Given the description of an element on the screen output the (x, y) to click on. 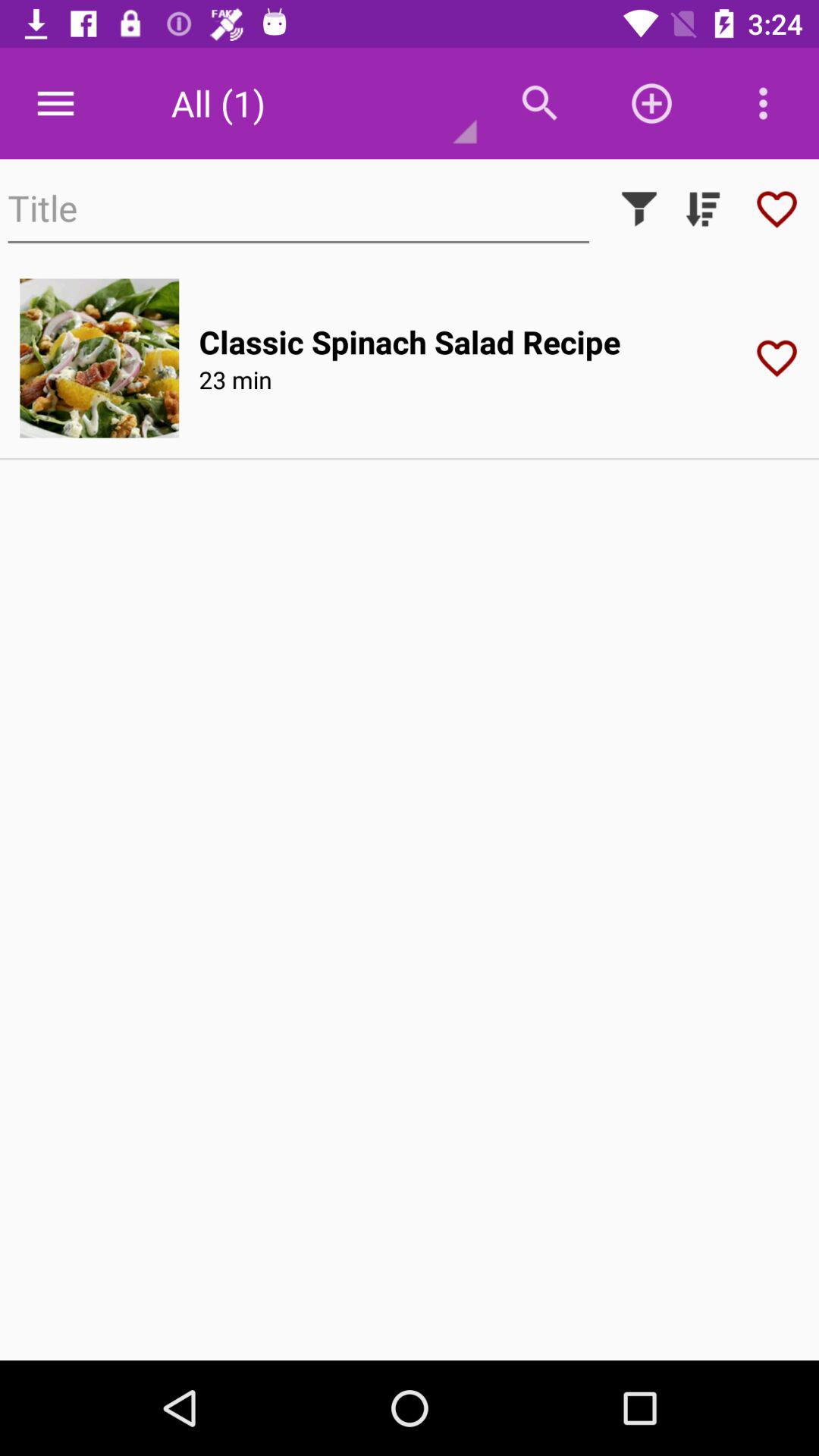
mark favorites (776, 208)
